Given the description of an element on the screen output the (x, y) to click on. 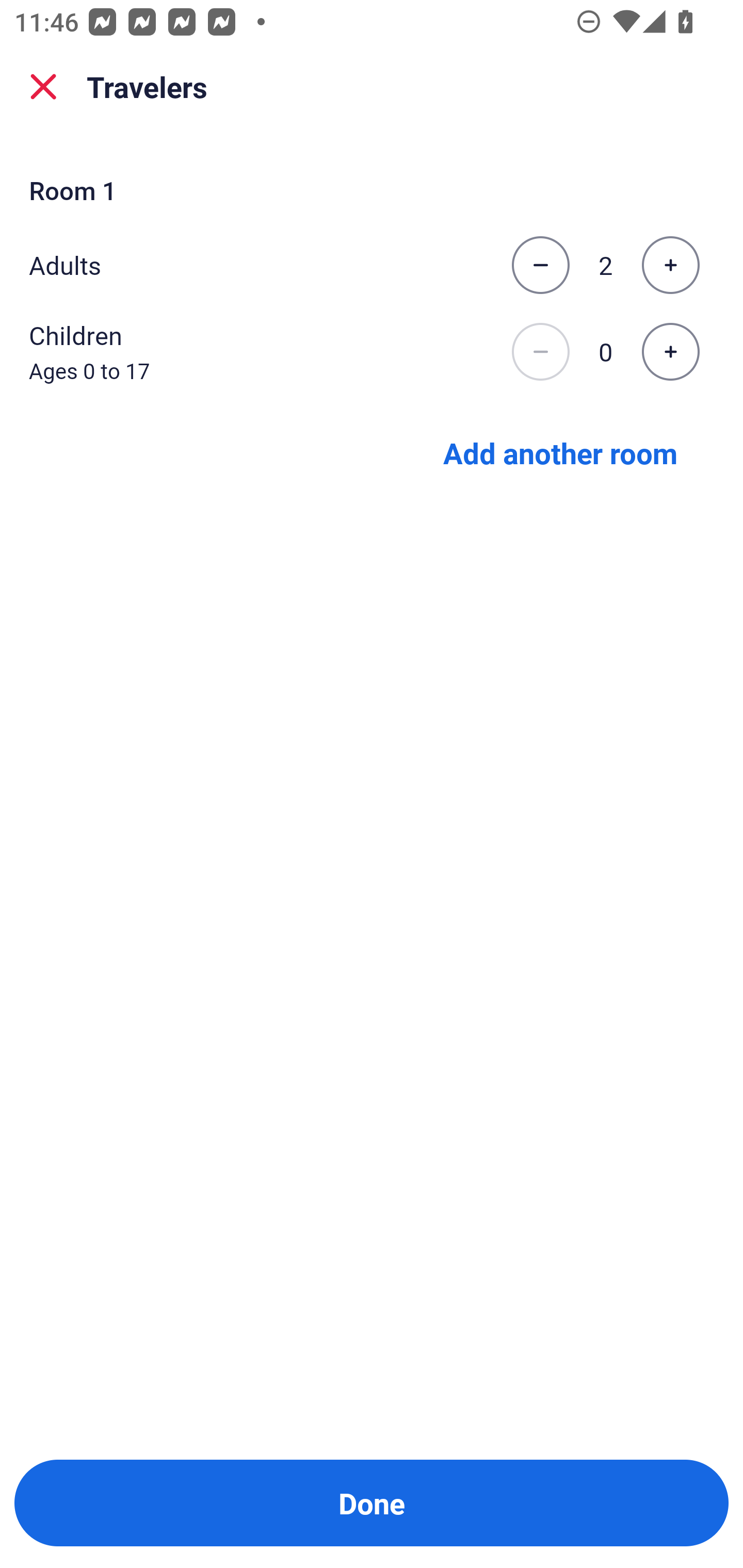
close (43, 86)
Decrease the number of adults (540, 264)
Increase the number of adults (670, 264)
Decrease the number of children (540, 351)
Increase the number of children (670, 351)
Add another room (560, 452)
Done (371, 1502)
